Given the description of an element on the screen output the (x, y) to click on. 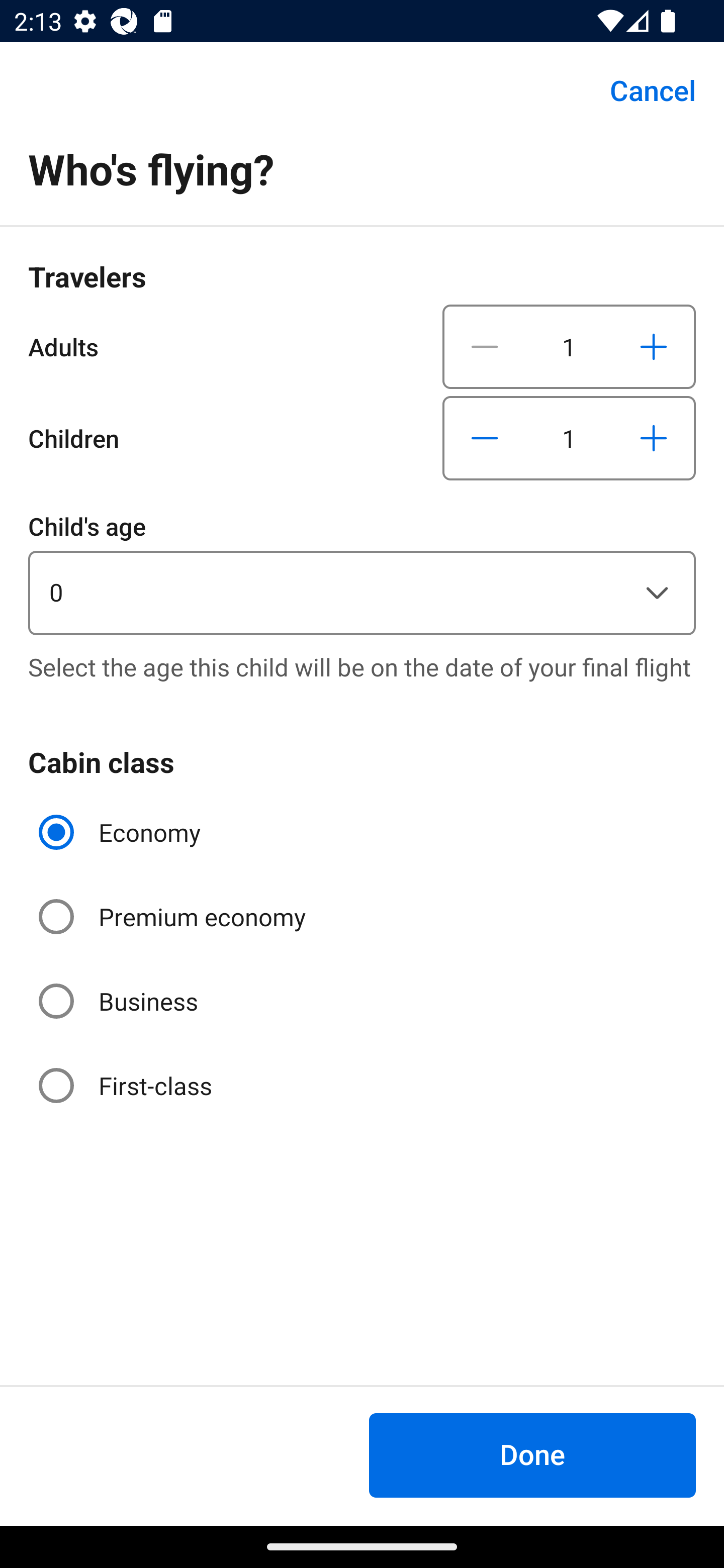
Cancel (641, 90)
Decrease (484, 346)
Increase (653, 346)
Decrease (484, 437)
Increase (653, 437)
Child's age
 Child's age 0 (361, 571)
Economy (121, 832)
Premium economy (174, 916)
Business (120, 1000)
First-class (126, 1084)
Done (532, 1454)
